Given the description of an element on the screen output the (x, y) to click on. 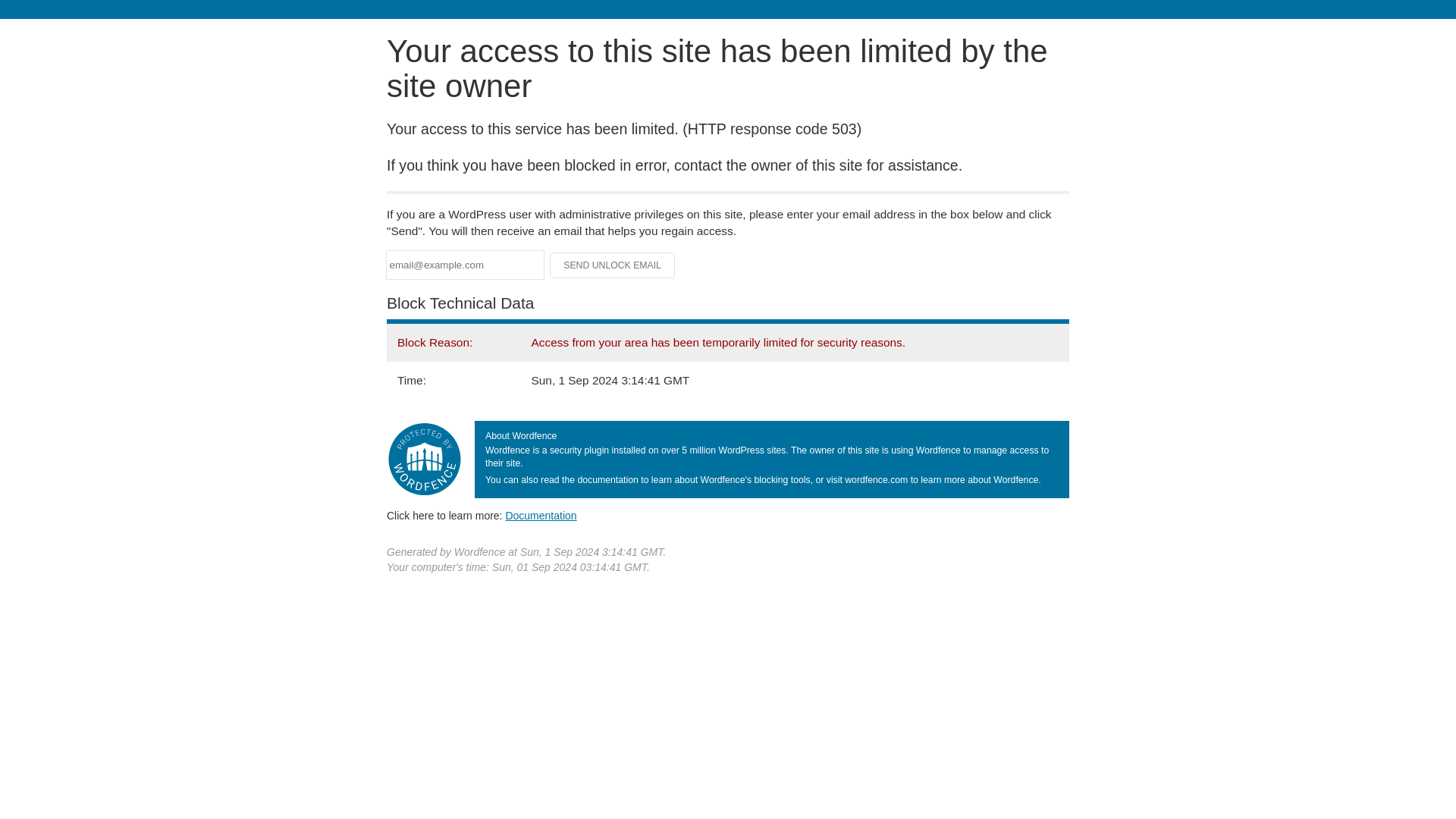
Send Unlock Email (612, 265)
Send Unlock Email (612, 265)
Documentation (540, 515)
